Given the description of an element on the screen output the (x, y) to click on. 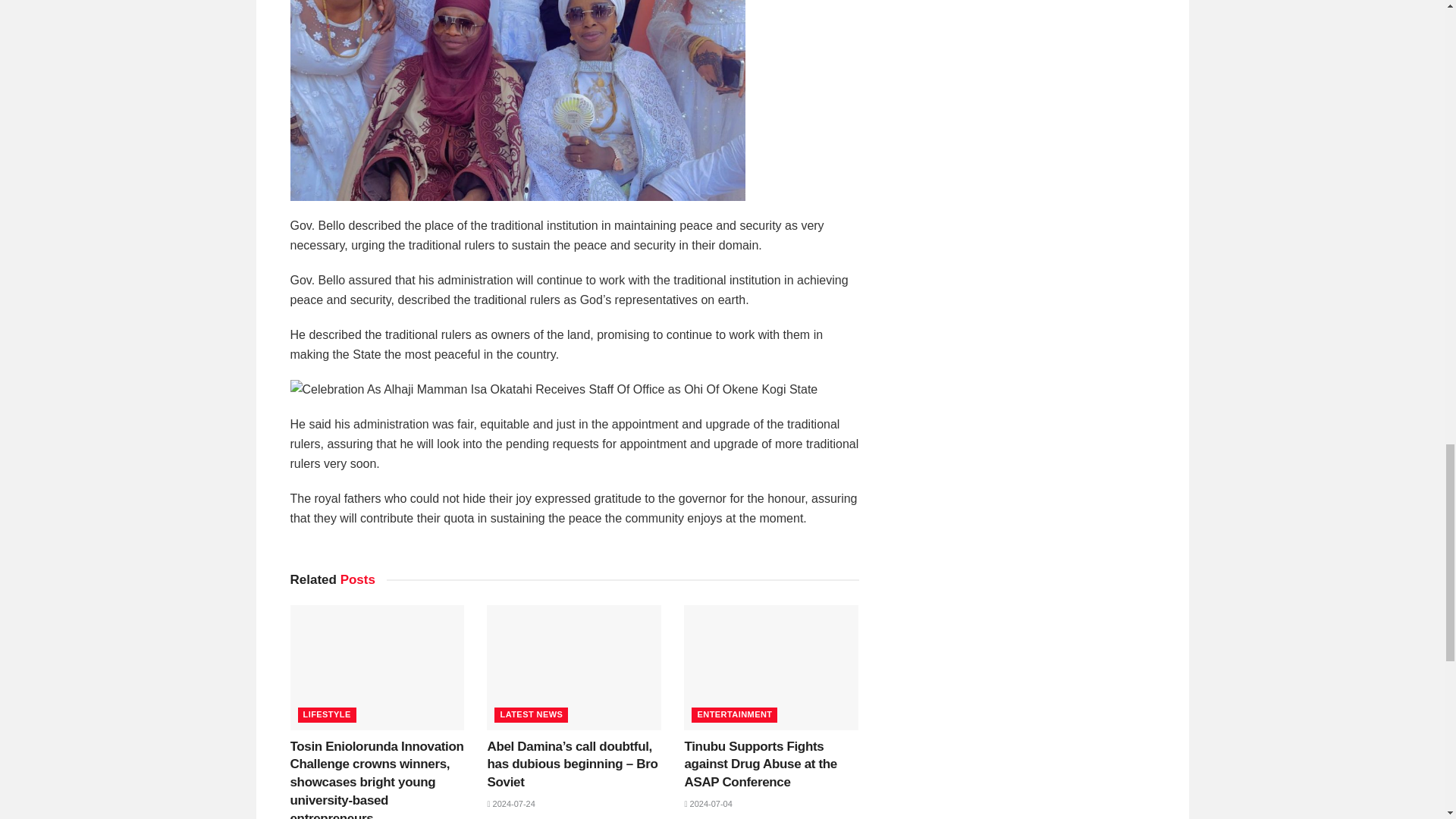
ENTERTAINMENT (734, 714)
2024-07-24 (510, 803)
LIFESTYLE (326, 714)
LATEST NEWS (531, 714)
